Given the description of an element on the screen output the (x, y) to click on. 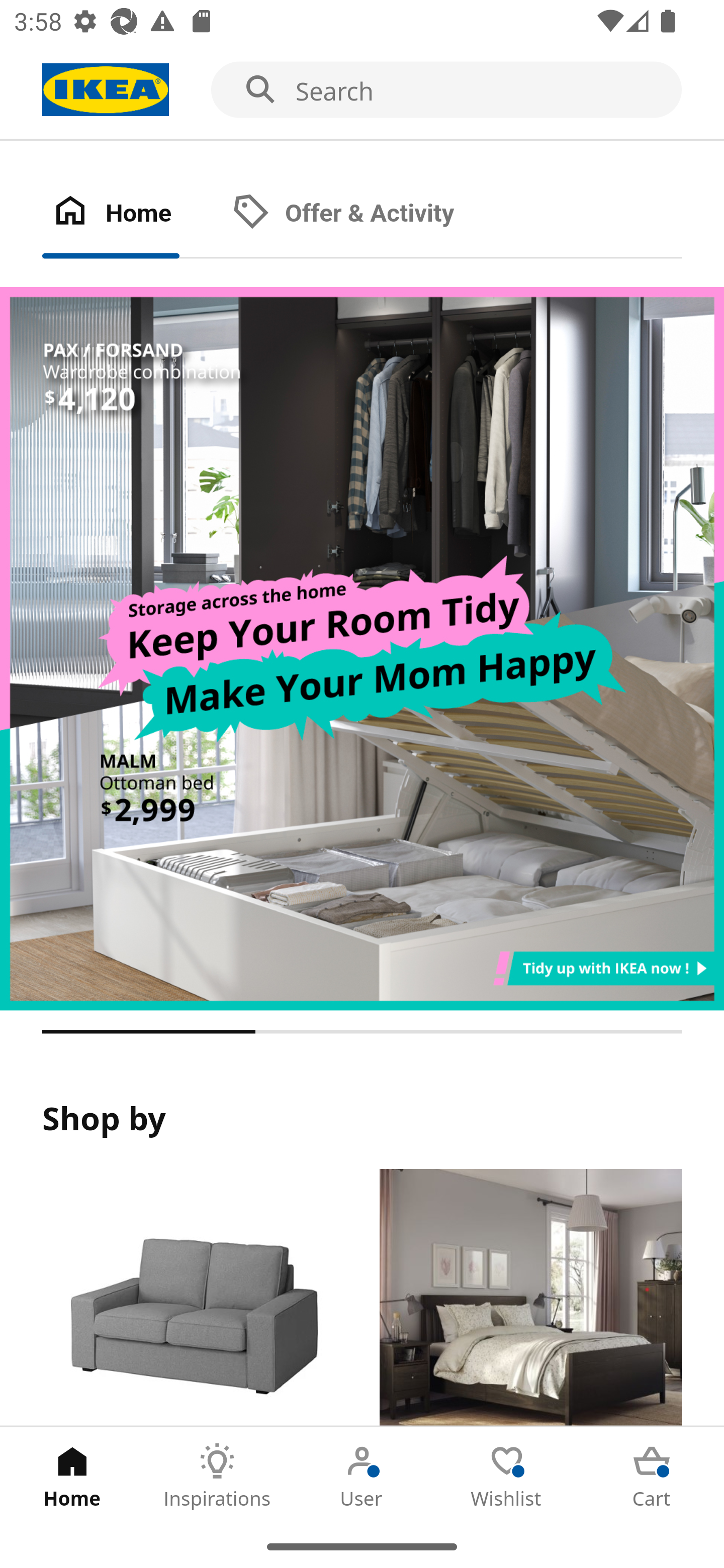
Search (361, 90)
Home
Tab 1 of 2 (131, 213)
Offer & Activity
Tab 2 of 2 (363, 213)
Products (192, 1297)
Rooms (530, 1297)
Home
Tab 1 of 5 (72, 1476)
Inspirations
Tab 2 of 5 (216, 1476)
User
Tab 3 of 5 (361, 1476)
Wishlist
Tab 4 of 5 (506, 1476)
Cart
Tab 5 of 5 (651, 1476)
